Given the description of an element on the screen output the (x, y) to click on. 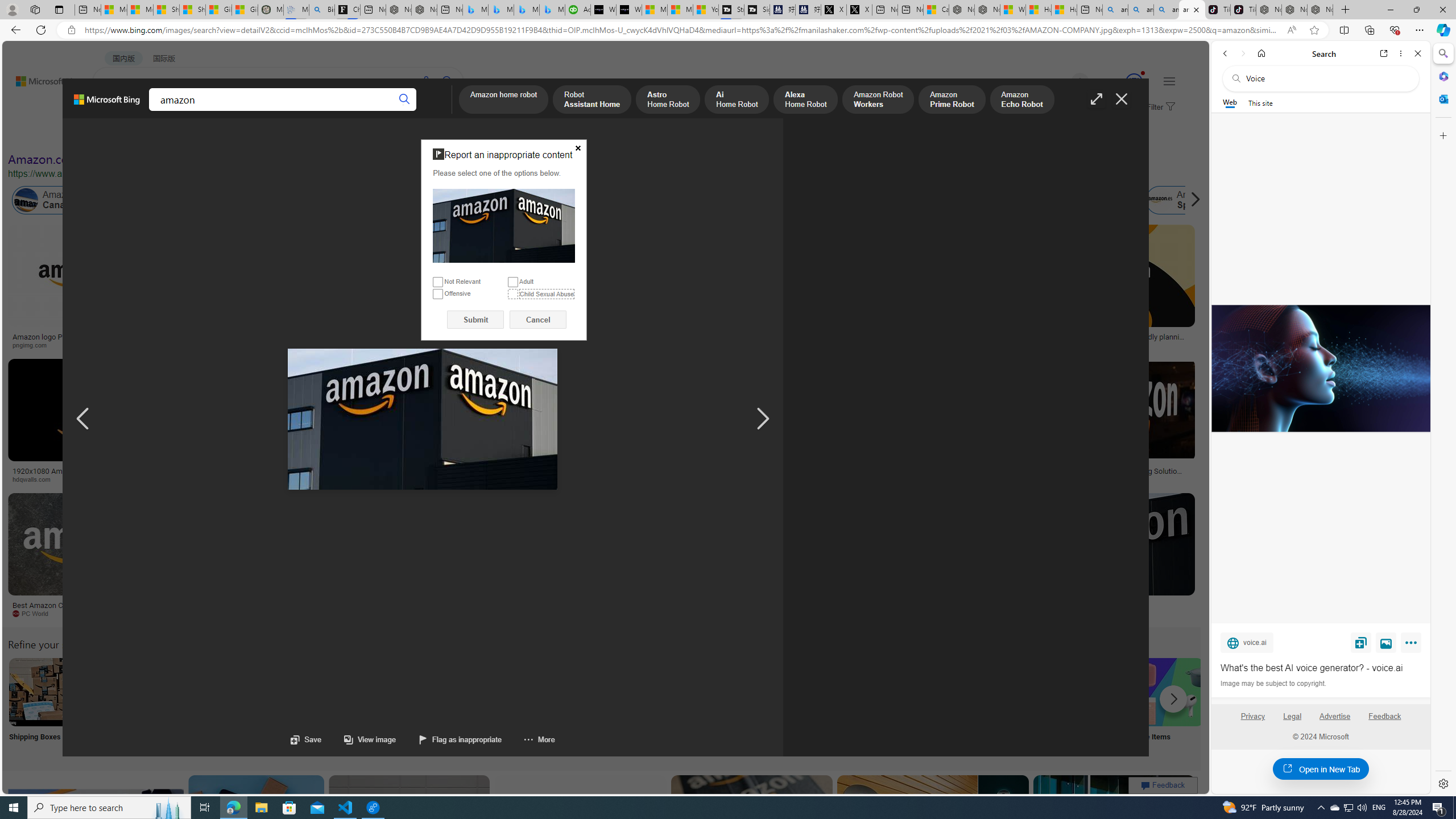
MORE (443, 111)
Microsoft Bing Travel - Stays in Bangkok, Bangkok, Thailand (500, 9)
Amazon Sale Items Sale Items (1169, 706)
amazon - Search Images (1191, 9)
Astro Home Robot (668, 100)
The Verge (237, 613)
Retail Store (493, 706)
mytotalretail.com (180, 344)
ACADEMIC (311, 111)
